Given the description of an element on the screen output the (x, y) to click on. 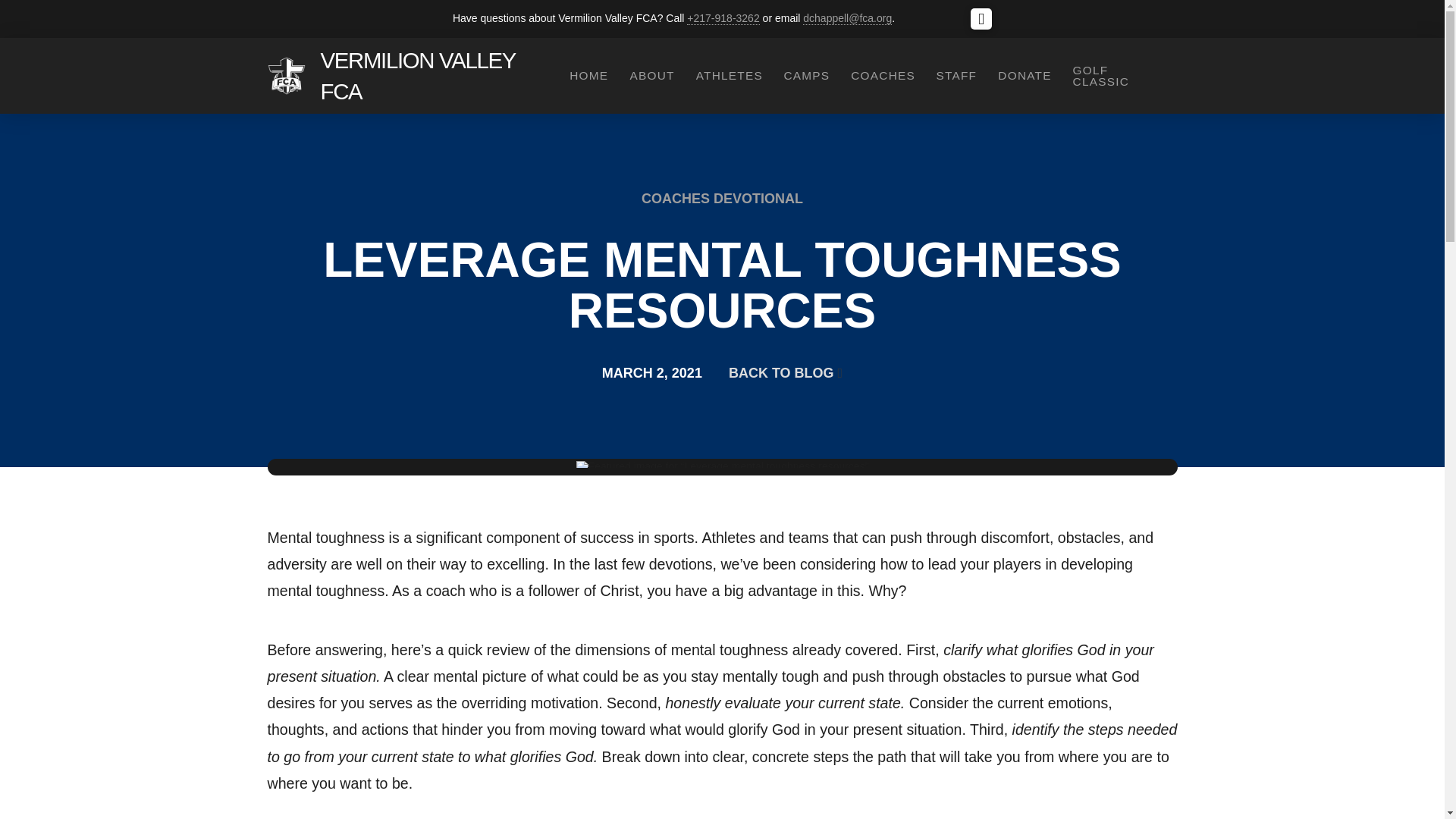
DONATE (1024, 75)
BACK TO BLOG  (786, 373)
ABOUT (650, 75)
VERMILION VALLEY FCA (430, 76)
CAMPS (805, 75)
ATHLETES (727, 75)
GOLF CLASSIC (1118, 75)
COACHES DEVOTIONAL (722, 198)
HOME (587, 75)
COACHES (882, 75)
